Given the description of an element on the screen output the (x, y) to click on. 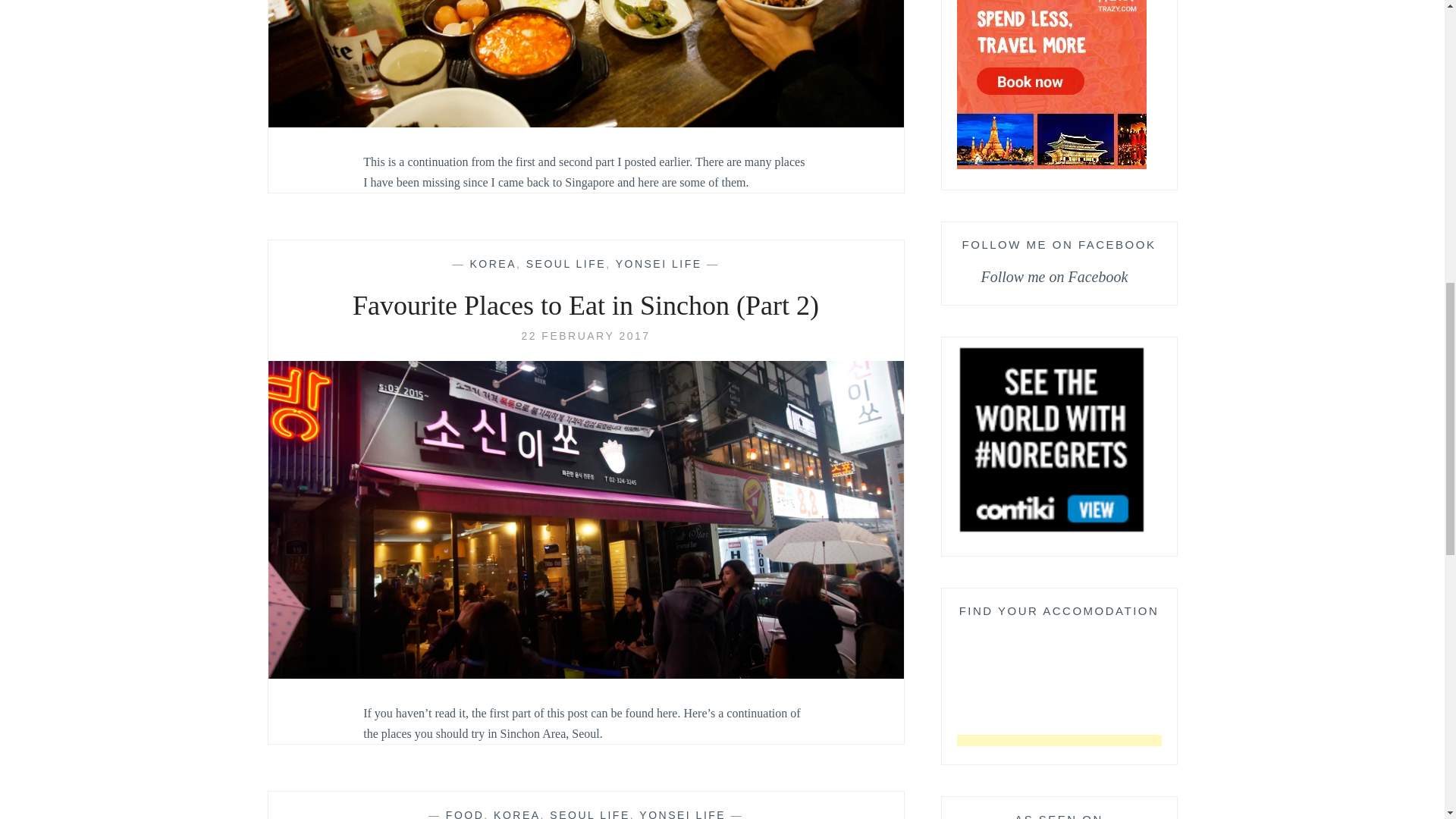
SEOUL LIFE (589, 814)
KOREA (492, 263)
YONSEI LIFE (658, 263)
22 FEBRUARY 2017 (585, 336)
KOREA (516, 814)
FOOD (464, 814)
YONSEI LIFE (682, 814)
SEOUL LIFE (565, 263)
